Given the description of an element on the screen output the (x, y) to click on. 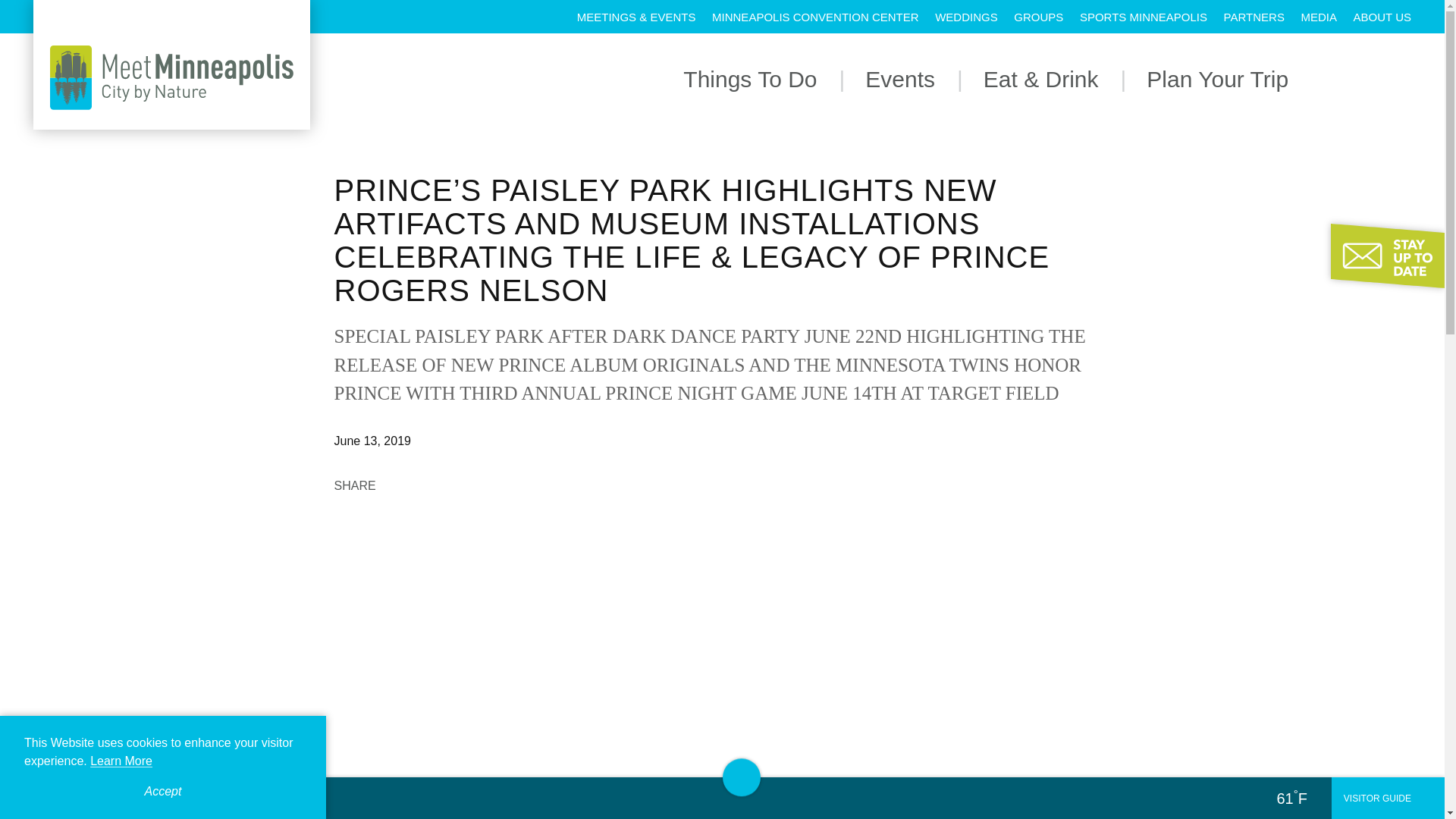
Share on Twitter (433, 484)
Share on Facebook (400, 484)
Email this page (467, 484)
WEDDINGS (965, 16)
SPORTS MINNEAPOLIS (1143, 16)
PARTNERS (1254, 16)
Plan Your Trip (1217, 78)
GROUPS (1037, 16)
Live chat (1401, 752)
Things To Do (749, 78)
